Given the description of an element on the screen output the (x, y) to click on. 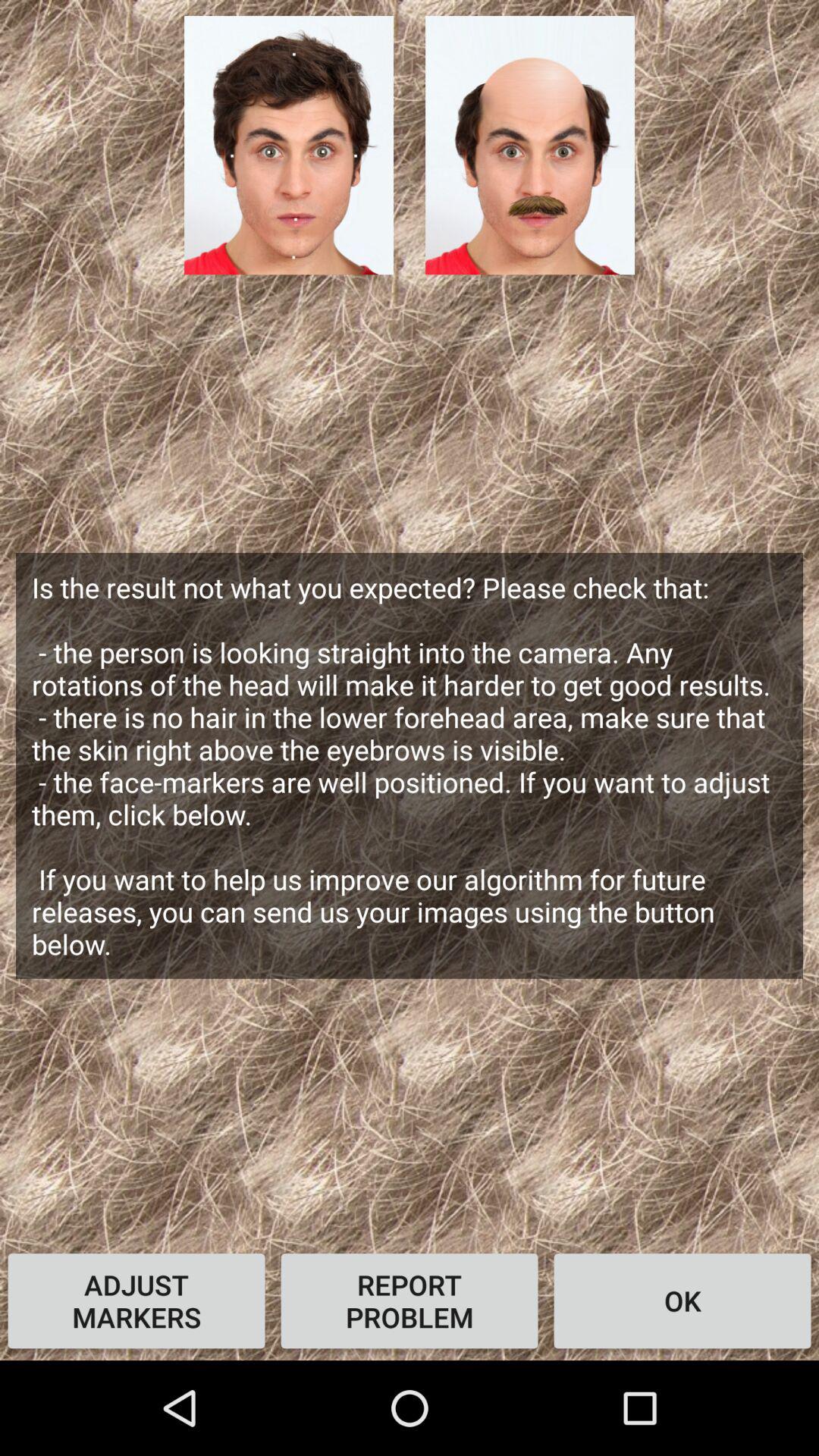
press the icon below the is the result item (409, 1300)
